Given the description of an element on the screen output the (x, y) to click on. 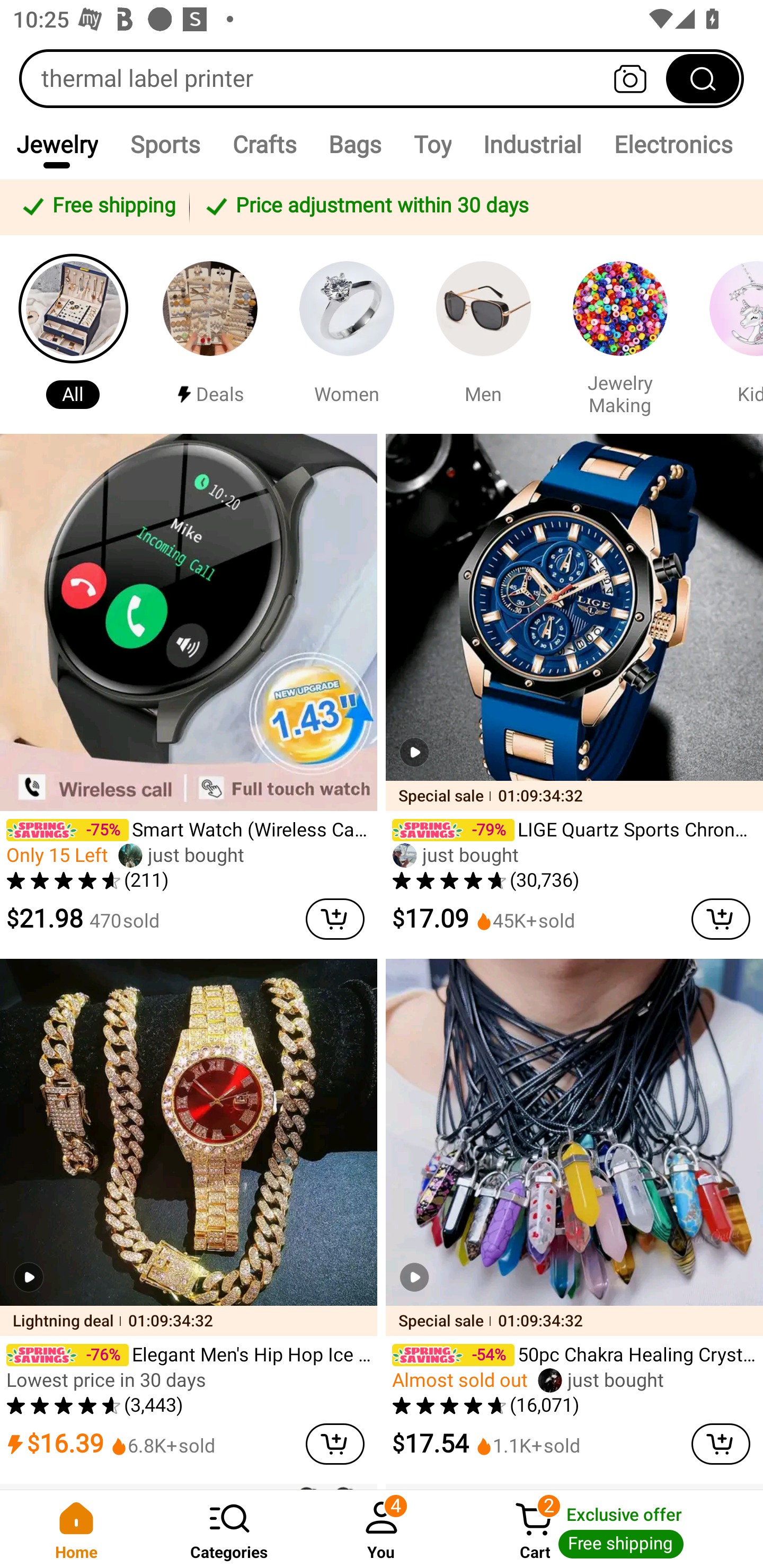
thermal label printer (381, 78)
Jewelry (56, 144)
Sports (164, 144)
Crafts (263, 144)
Bags (354, 144)
Toy (431, 144)
Industrial (531, 144)
Electronics (672, 144)
Free shipping (97, 206)
Price adjustment within 30 days (472, 206)
All (72, 333)
￼￼Deals (209, 333)
Women (346, 333)
Men (482, 333)
Jewelry Making (619, 333)
Kids (729, 333)
cart delete (334, 918)
cart delete (720, 918)
cart delete (334, 1443)
cart delete (720, 1443)
Home (76, 1528)
Categories (228, 1528)
You 4 You (381, 1528)
Cart 2 Cart Exclusive offer (610, 1528)
